Given the description of an element on the screen output the (x, y) to click on. 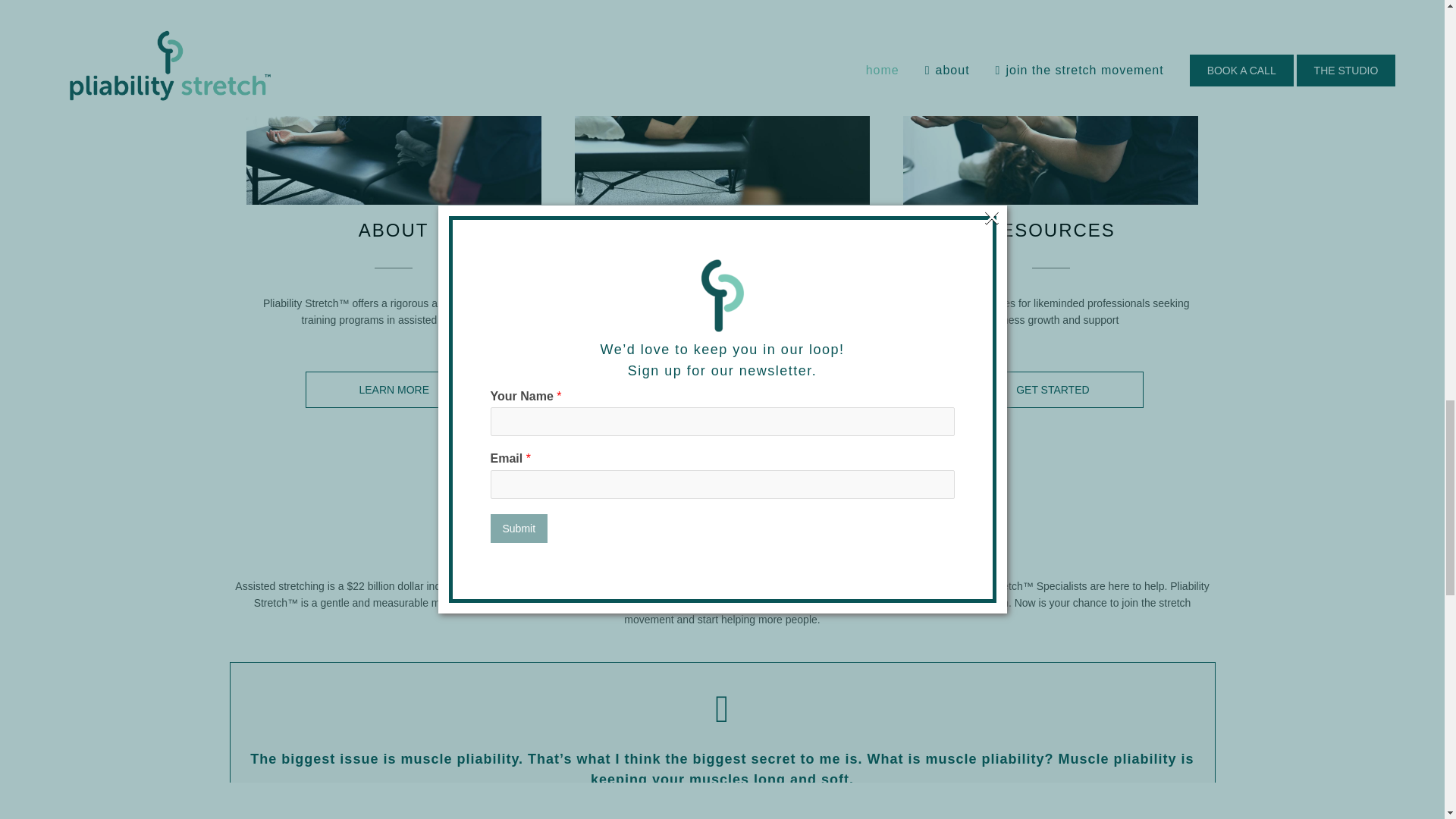
LEARN MORE (393, 389)
GET STARTED (1052, 389)
SCHEDULE (724, 389)
